Given the description of an element on the screen output the (x, y) to click on. 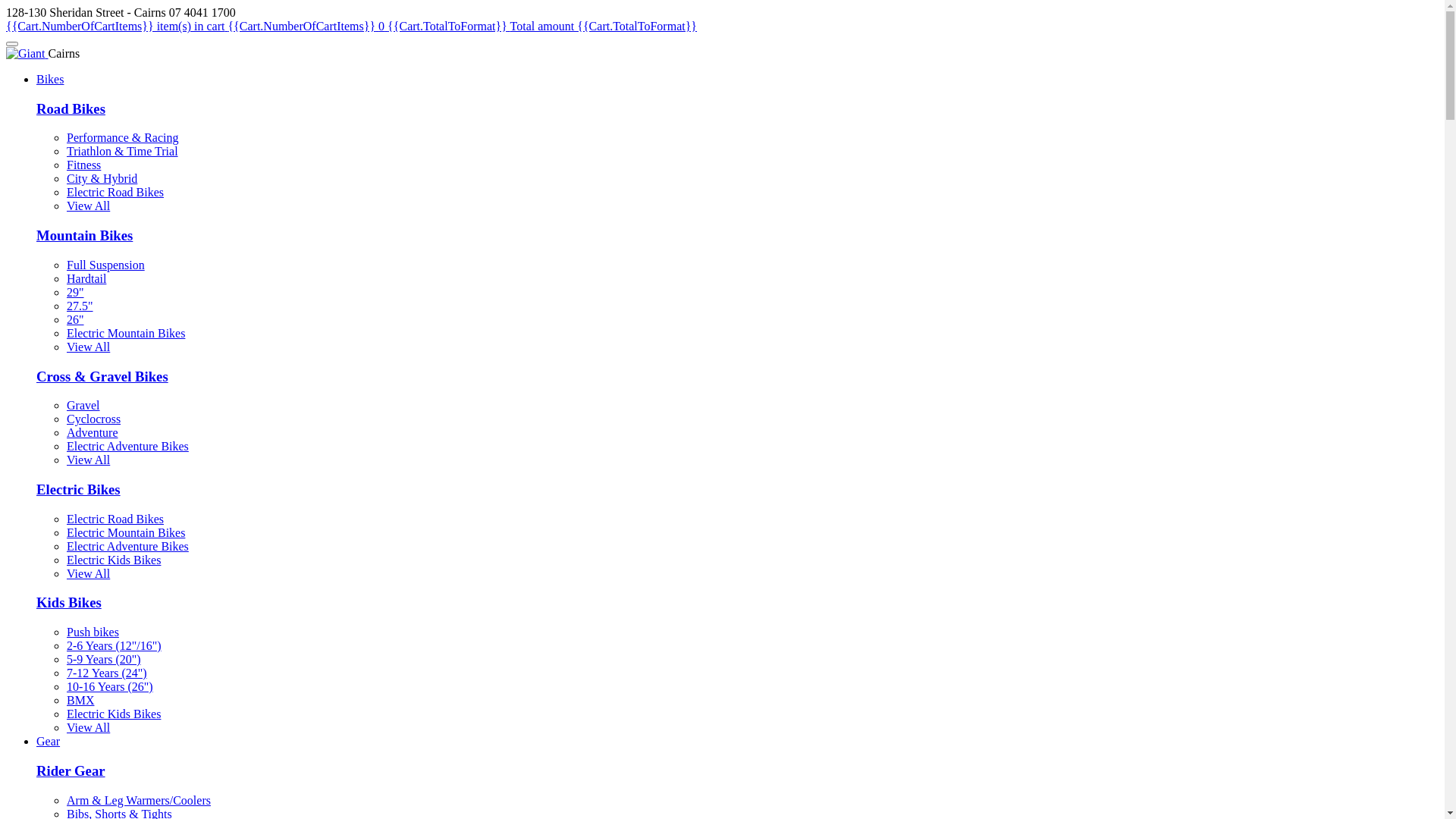
29" Element type: text (75, 291)
Electric Bikes Element type: text (78, 489)
Road Bikes Element type: text (70, 108)
Electric Road Bikes Element type: text (114, 518)
Electric Road Bikes Element type: text (114, 191)
City & Hybrid Element type: text (101, 178)
Adventure Element type: text (92, 432)
Mountain Bikes Element type: text (84, 235)
View All Element type: text (87, 727)
2-6 Years (12"/16") Element type: text (113, 645)
Hardtail Element type: text (86, 278)
26" Element type: text (75, 319)
Electric Kids Bikes Element type: text (113, 559)
Fitness Element type: text (83, 164)
10-16 Years (26") Element type: text (109, 686)
Triathlon & Time Trial Element type: text (122, 150)
Electric Kids Bikes Element type: text (113, 713)
Electric Adventure Bikes Element type: text (127, 445)
View All Element type: text (87, 346)
Cross & Gravel Bikes Element type: text (102, 376)
Full Suspension Element type: text (105, 264)
Arm & Leg Warmers/Coolers Element type: text (138, 799)
View All Element type: text (87, 573)
Push bikes Element type: text (92, 631)
Gravel Element type: text (83, 404)
7-12 Years (24") Element type: text (106, 672)
Cyclocross Element type: text (93, 418)
Bikes Element type: text (49, 78)
View All Element type: text (87, 459)
Performance & Racing Element type: text (122, 137)
BMX Element type: text (80, 699)
5-9 Years (20") Element type: text (103, 658)
Rider Gear Element type: text (70, 770)
Electric Mountain Bikes Element type: text (125, 532)
Gear Element type: text (47, 740)
27.5" Element type: text (79, 305)
View All Element type: text (87, 205)
Electric Mountain Bikes Element type: text (125, 332)
Electric Adventure Bikes Element type: text (127, 545)
Kids Bikes Element type: text (68, 602)
